Given the description of an element on the screen output the (x, y) to click on. 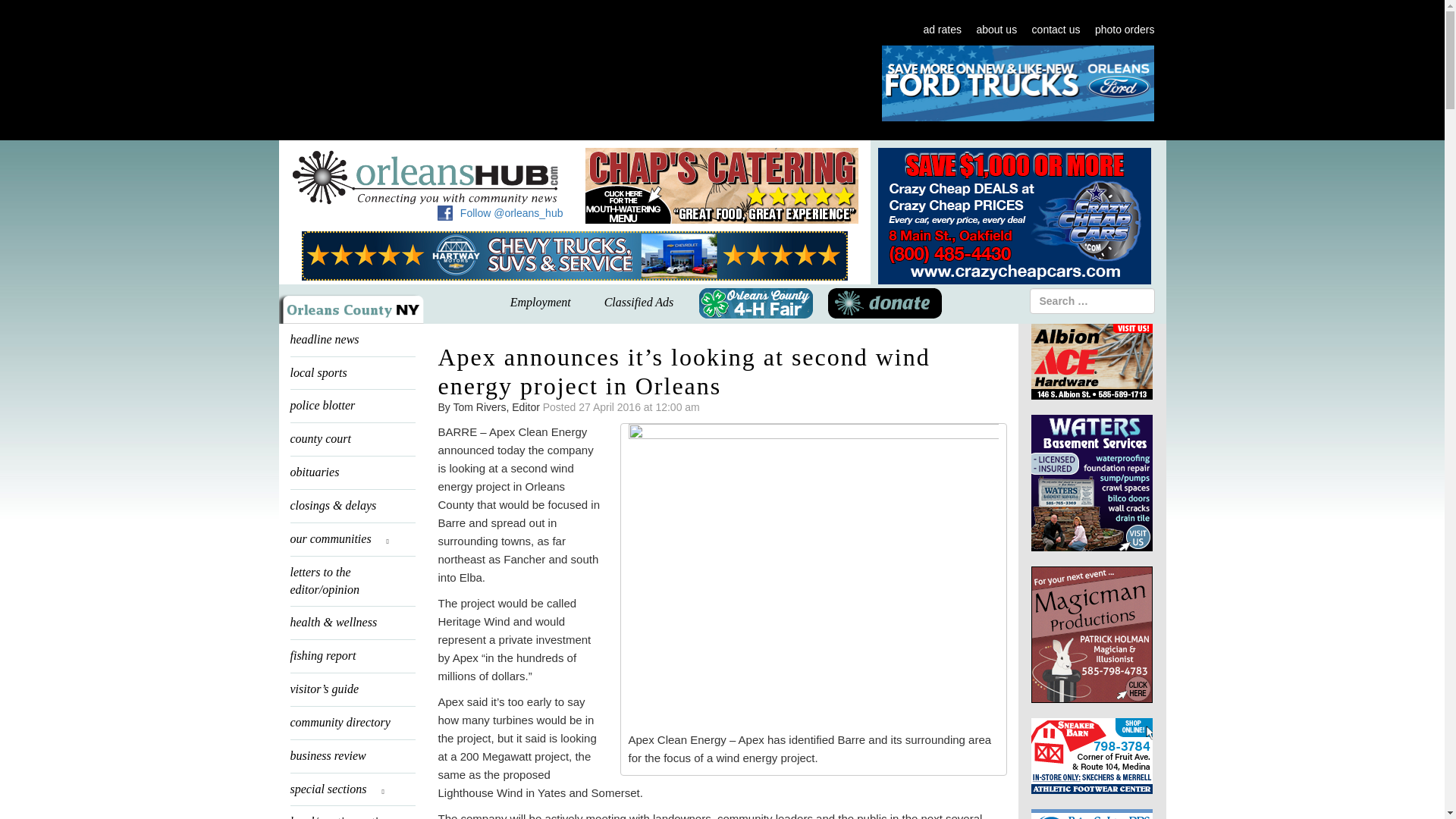
Contact with Orleans Hub (1056, 29)
ad rates (941, 29)
local sports (351, 373)
Find Orleans Hub on Facebook (445, 212)
1799-15 Silsby Family Dental (550, 83)
our communities (351, 539)
About Orleans Hub (995, 29)
Orleans Hub Ad Rates (941, 29)
police blotter (351, 405)
Search for: (1091, 300)
obituaries (351, 472)
headline news (351, 339)
about us (995, 29)
county court (351, 439)
Employment (540, 302)
